Given the description of an element on the screen output the (x, y) to click on. 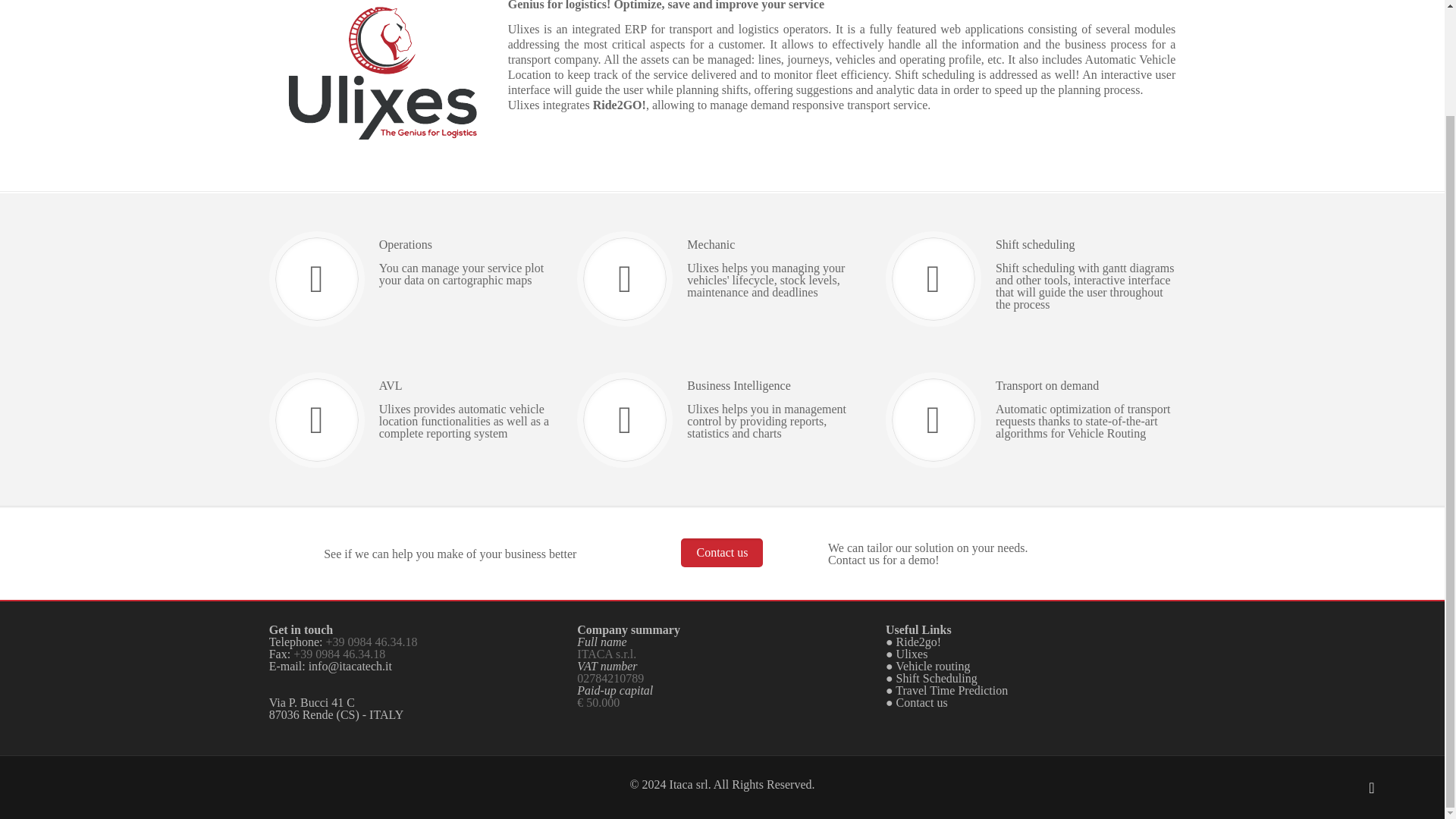
Shift Scheduling (936, 677)
Contact us (721, 552)
Ulixes (912, 653)
Travel Time Prediction (951, 689)
ulixes (382, 74)
Contact us (921, 702)
Vehicle routing (932, 666)
Ride2go! (919, 641)
